Given the description of an element on the screen output the (x, y) to click on. 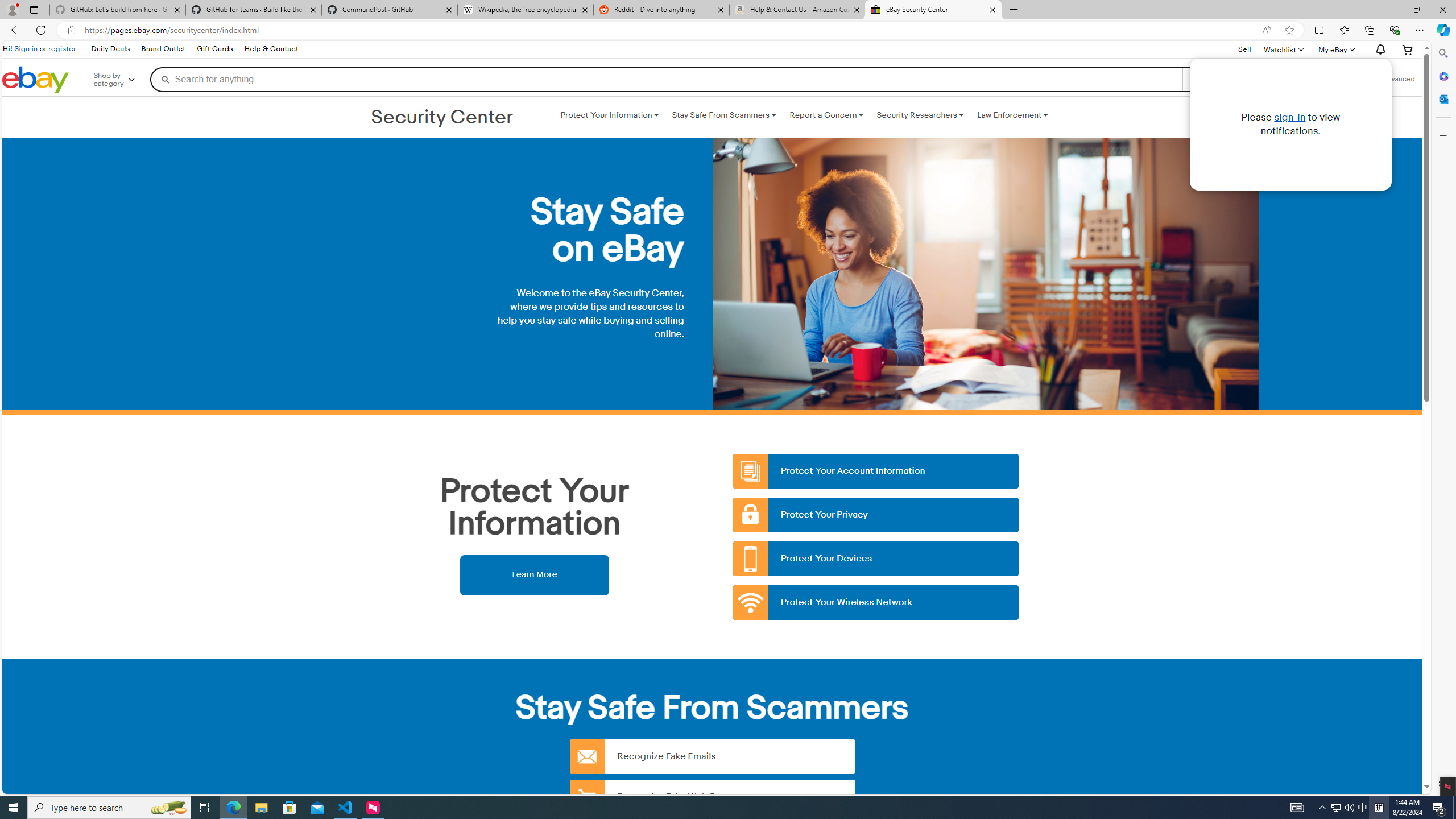
Brand Outlet (162, 49)
Sign in (25, 48)
Search for anything (665, 78)
Security Center (442, 117)
Select a category for search (1228, 78)
Protect Your Devices (876, 558)
Your shopping cart (1407, 49)
Security Researchers  (919, 115)
